Given the description of an element on the screen output the (x, y) to click on. 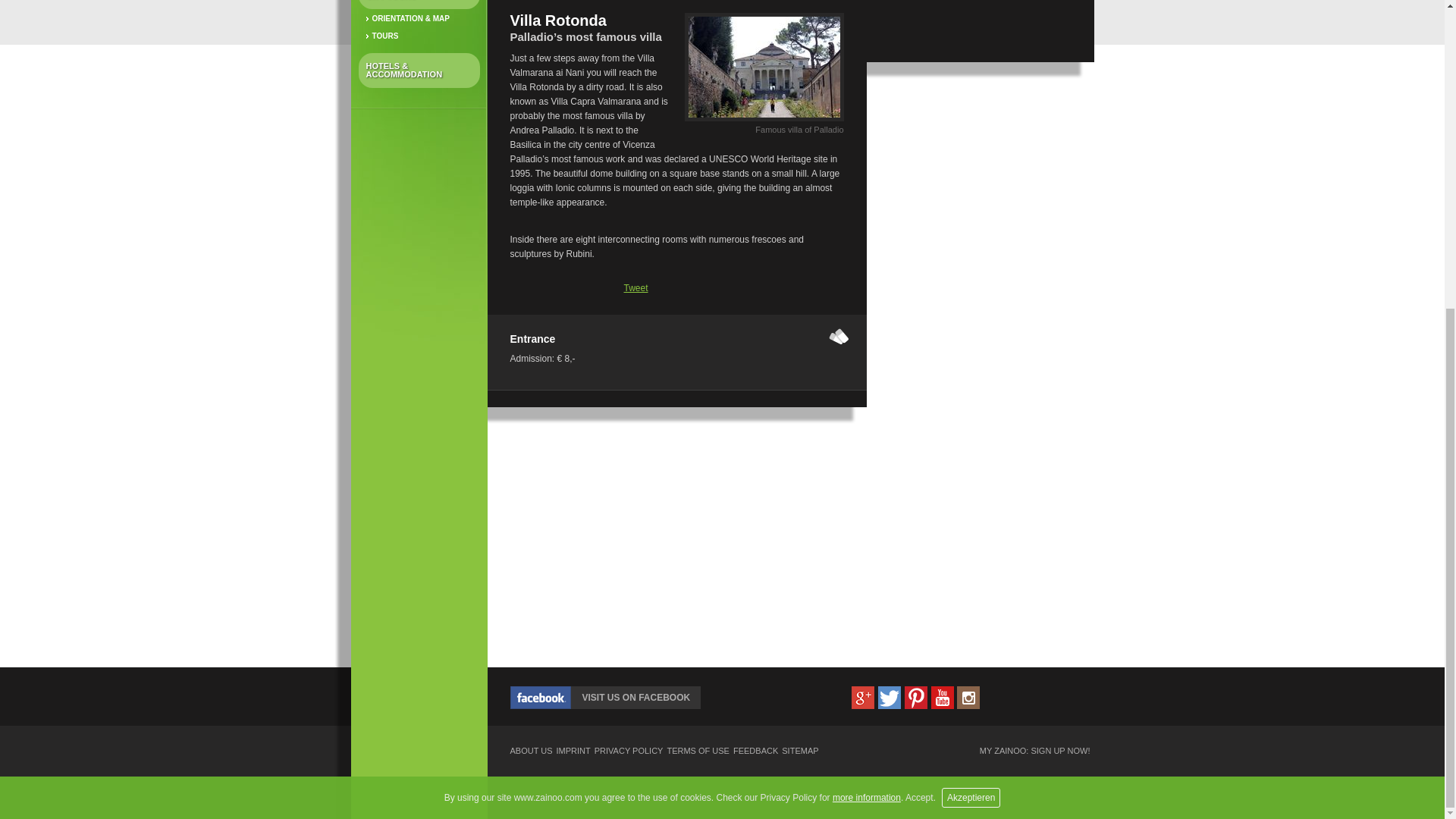
Akzeptieren (971, 309)
Tweet (635, 287)
more information (866, 308)
TOURS (418, 36)
Famous villa of Palladio, Villa Rotonda (763, 121)
CITY TOURS (418, 4)
Advertisement (979, 190)
